Given the description of an element on the screen output the (x, y) to click on. 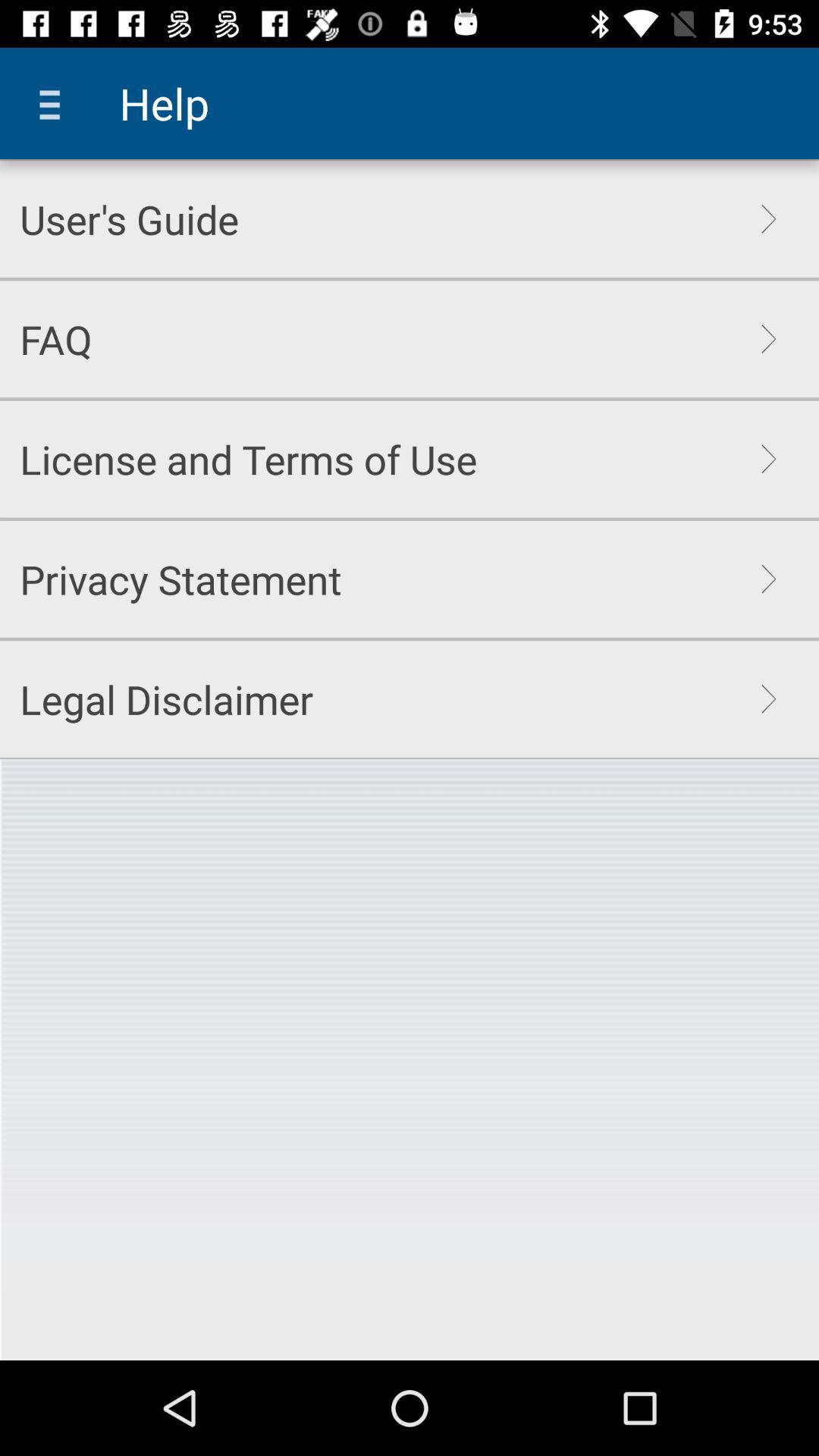
open the item below the user's guide (56, 338)
